Given the description of an element on the screen output the (x, y) to click on. 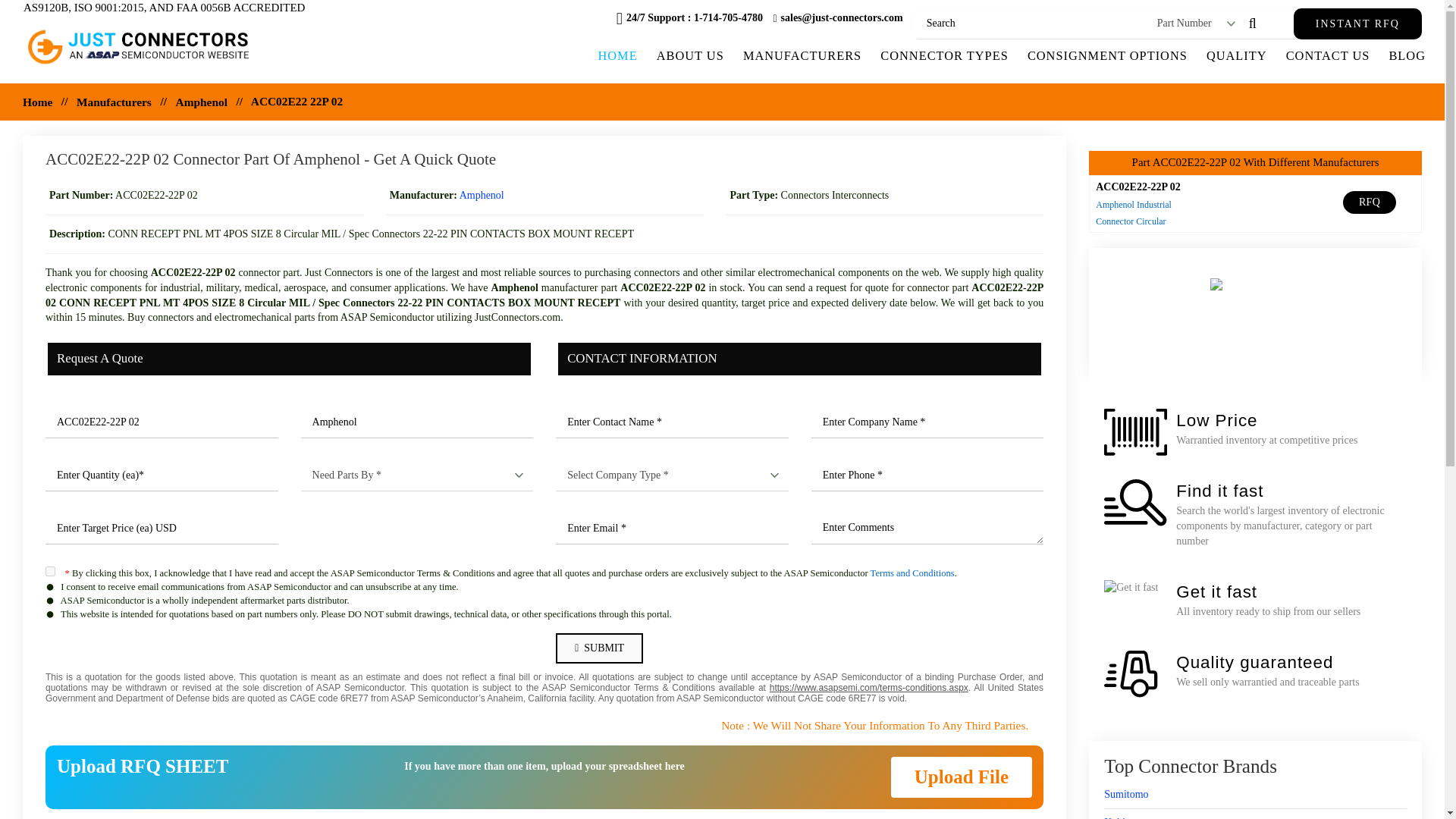
BLOG (1406, 55)
disclaimer (544, 688)
ACC02E22-22P 02 (1138, 186)
Amphenol Industrial (1134, 204)
Manufacturers (114, 102)
CONSIGNMENT OPTIONS (1107, 55)
CONTACT US (1327, 55)
RFQ (1369, 201)
ACC02E22-22P 02 (161, 422)
on (50, 571)
